Given the description of an element on the screen output the (x, y) to click on. 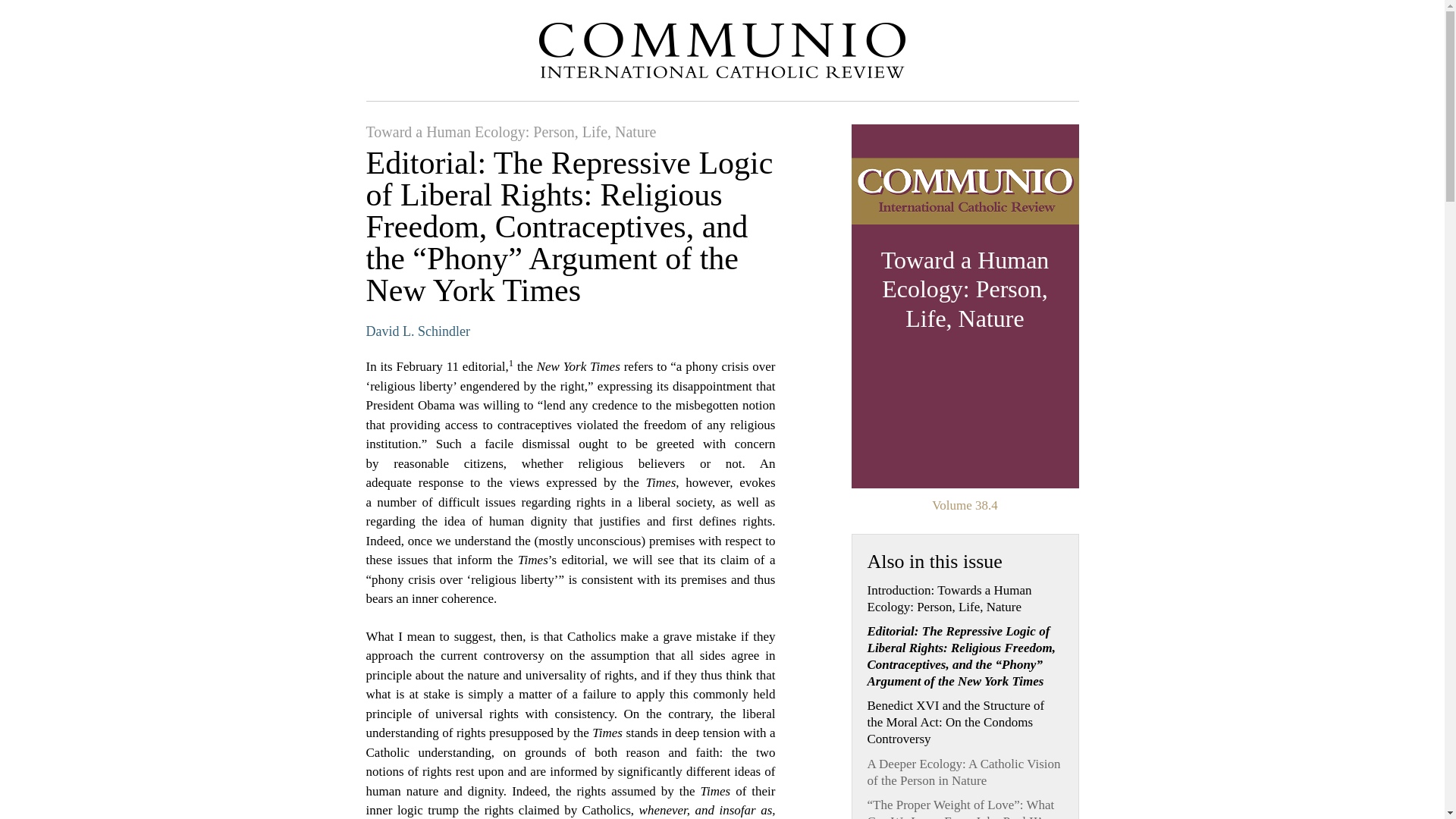
Introduction: Towards a Human Ecology: Person, Life, Nature (964, 598)
Toward a Human Ecology: Person, Life, Nature (510, 131)
David L. Schindler (416, 331)
